Given the description of an element on the screen output the (x, y) to click on. 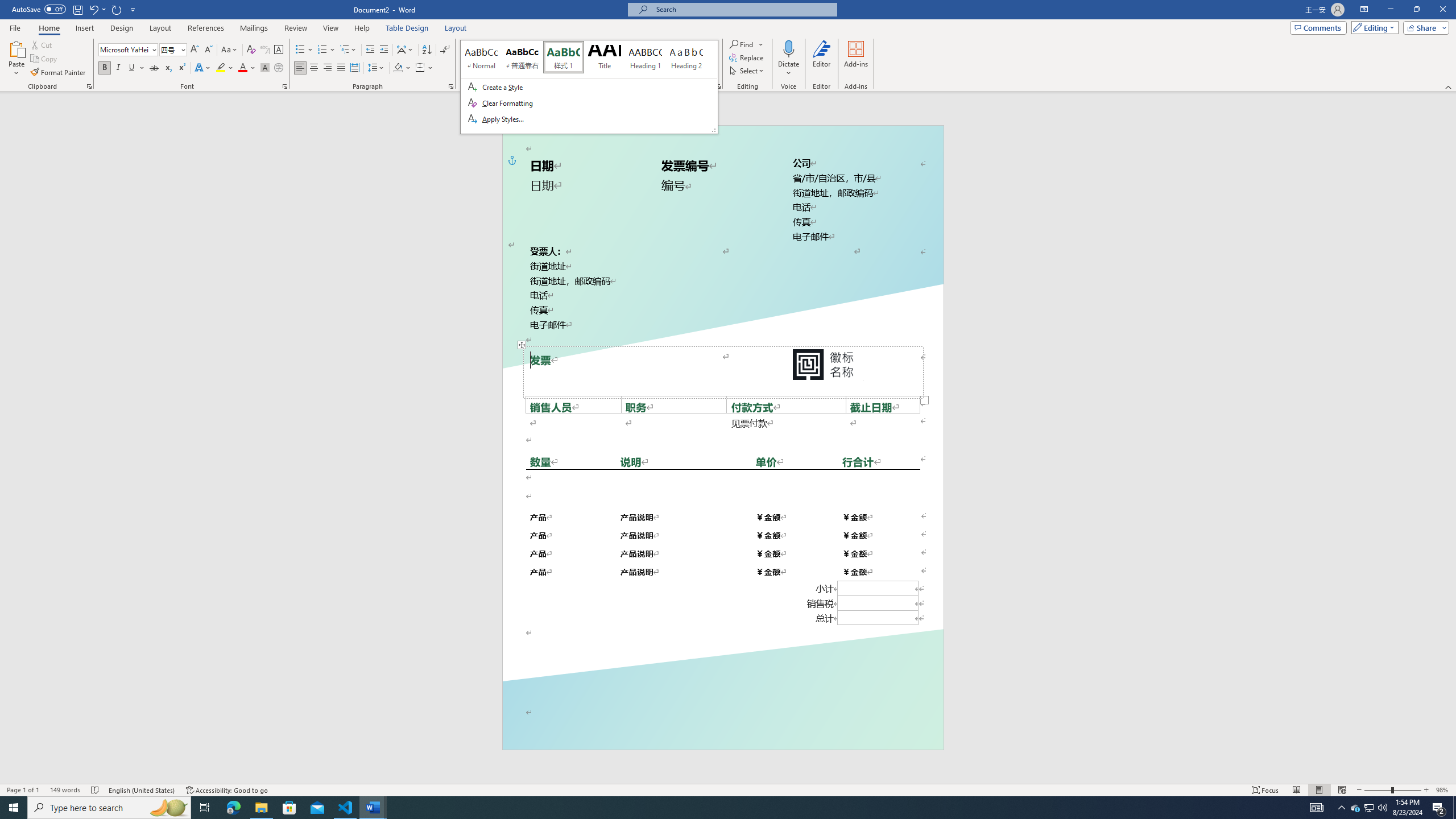
Zoom 98% (1443, 790)
